Given the description of an element on the screen output the (x, y) to click on. 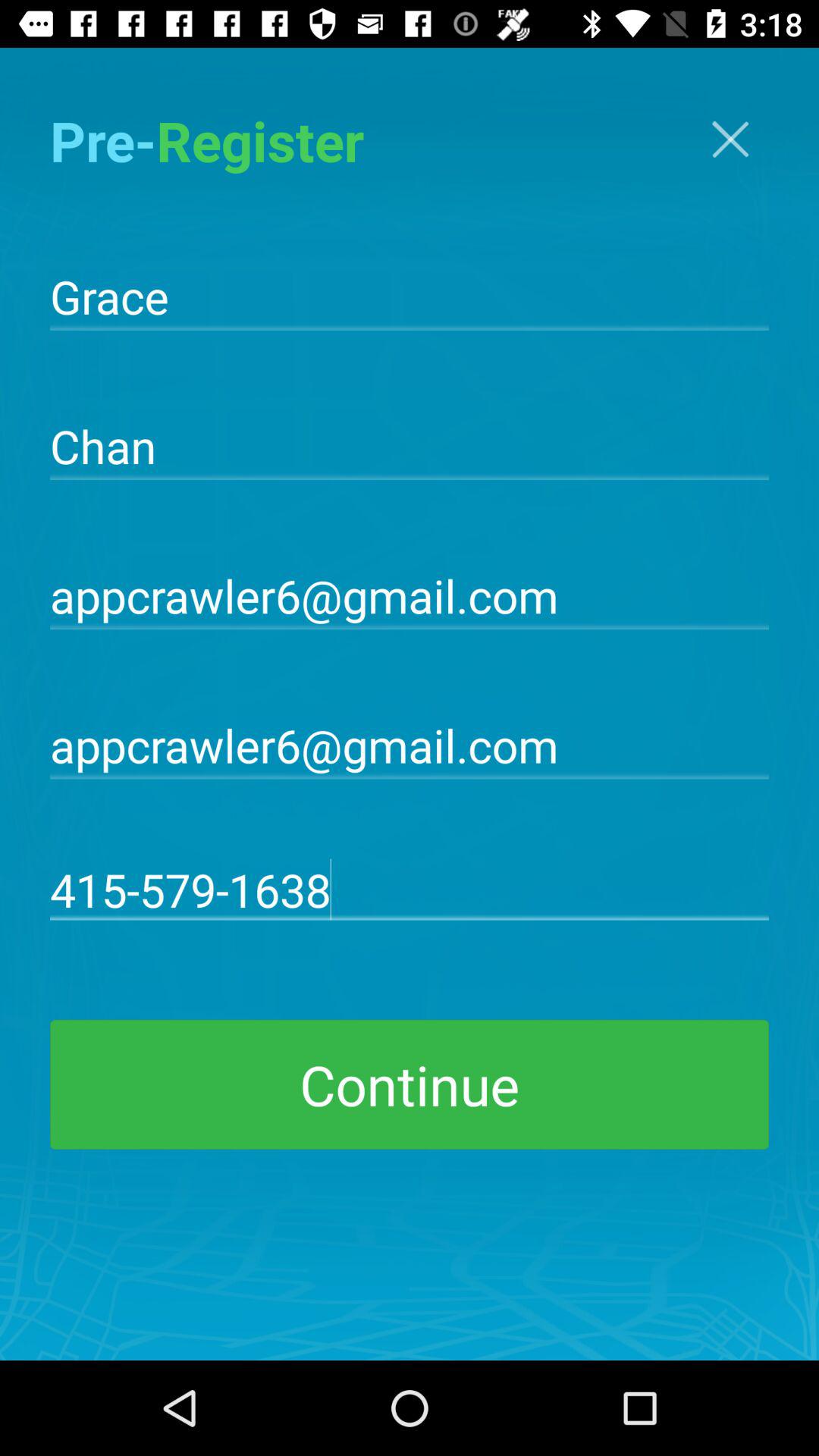
scroll until the chan item (409, 445)
